Given the description of an element on the screen output the (x, y) to click on. 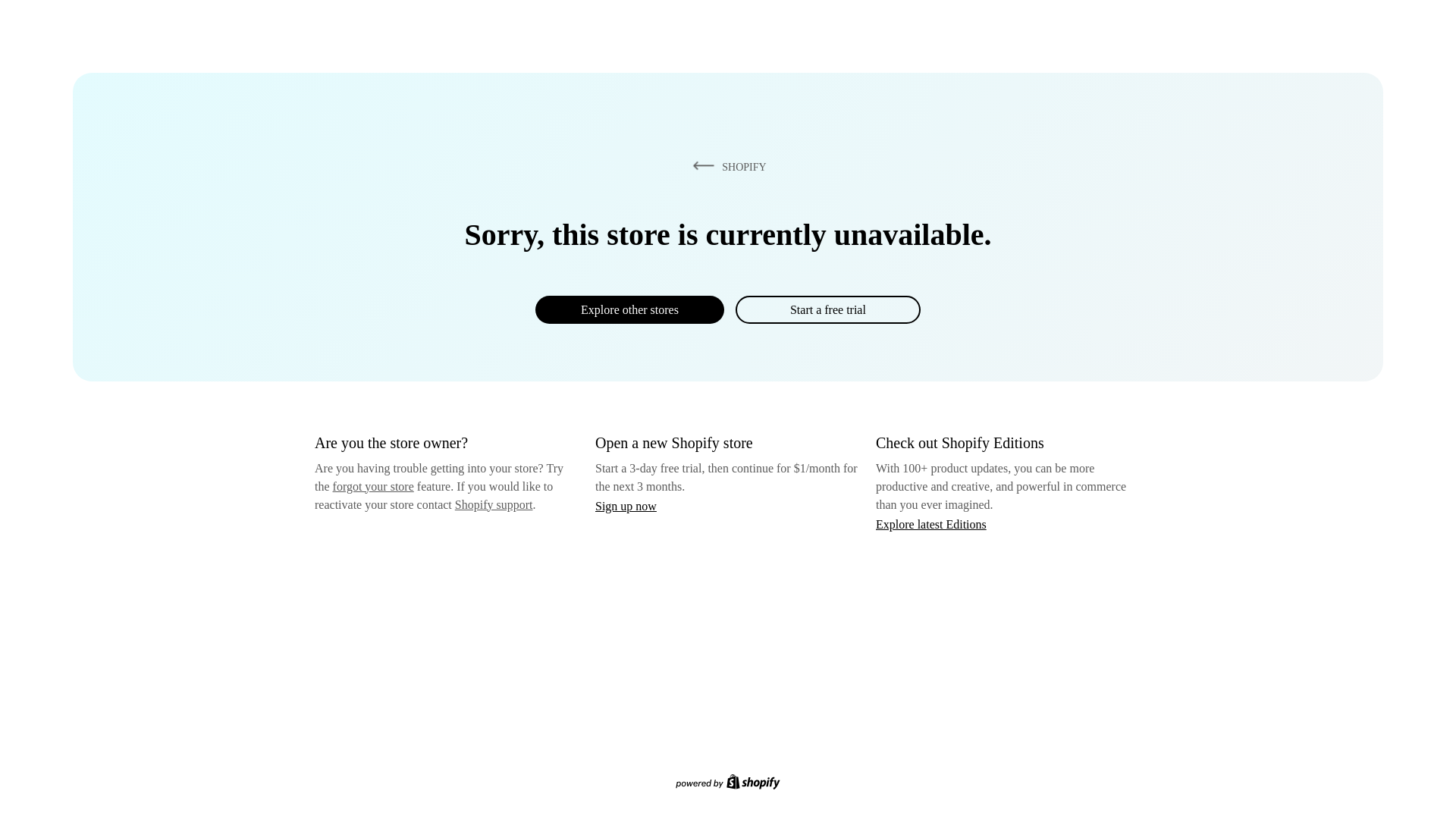
Shopify support (493, 504)
SHOPIFY (726, 166)
Start a free trial (827, 309)
Explore latest Editions (931, 523)
Sign up now (625, 505)
Explore other stores (629, 309)
forgot your store (373, 486)
